Given the description of an element on the screen output the (x, y) to click on. 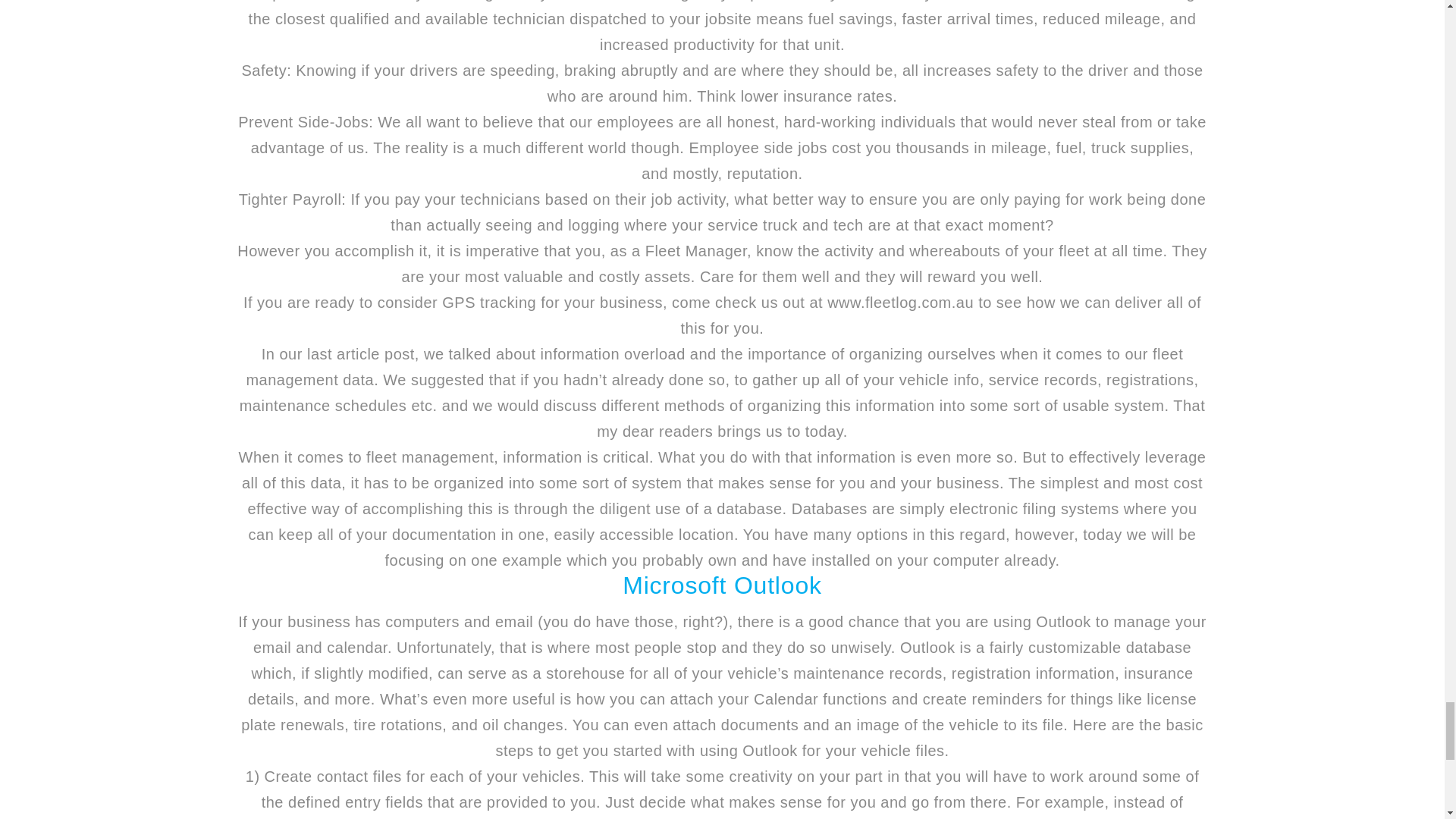
www.fleetlog.com.au (900, 302)
